Given the description of an element on the screen output the (x, y) to click on. 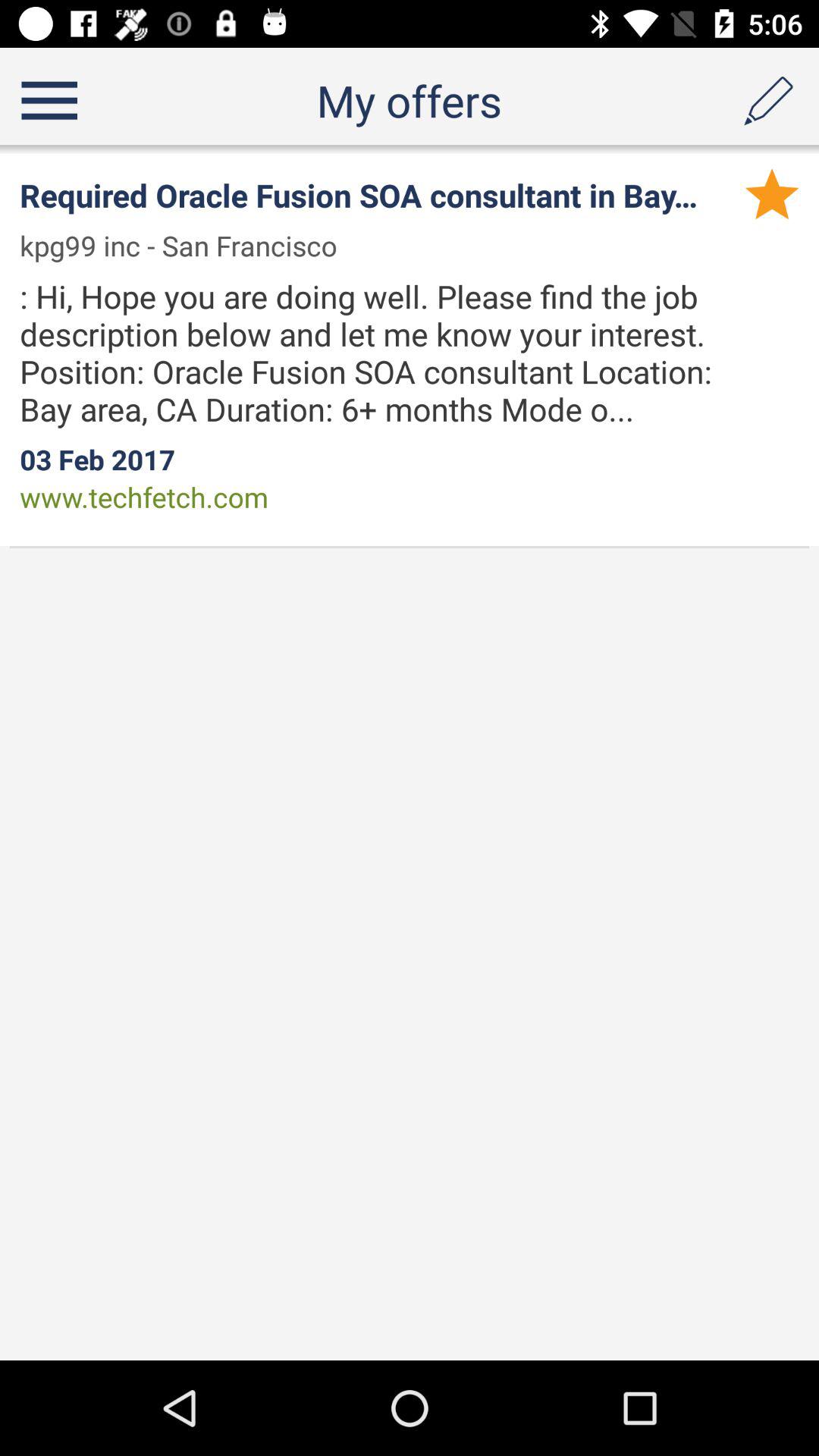
scroll until www.techfetch.com item (143, 496)
